Given the description of an element on the screen output the (x, y) to click on. 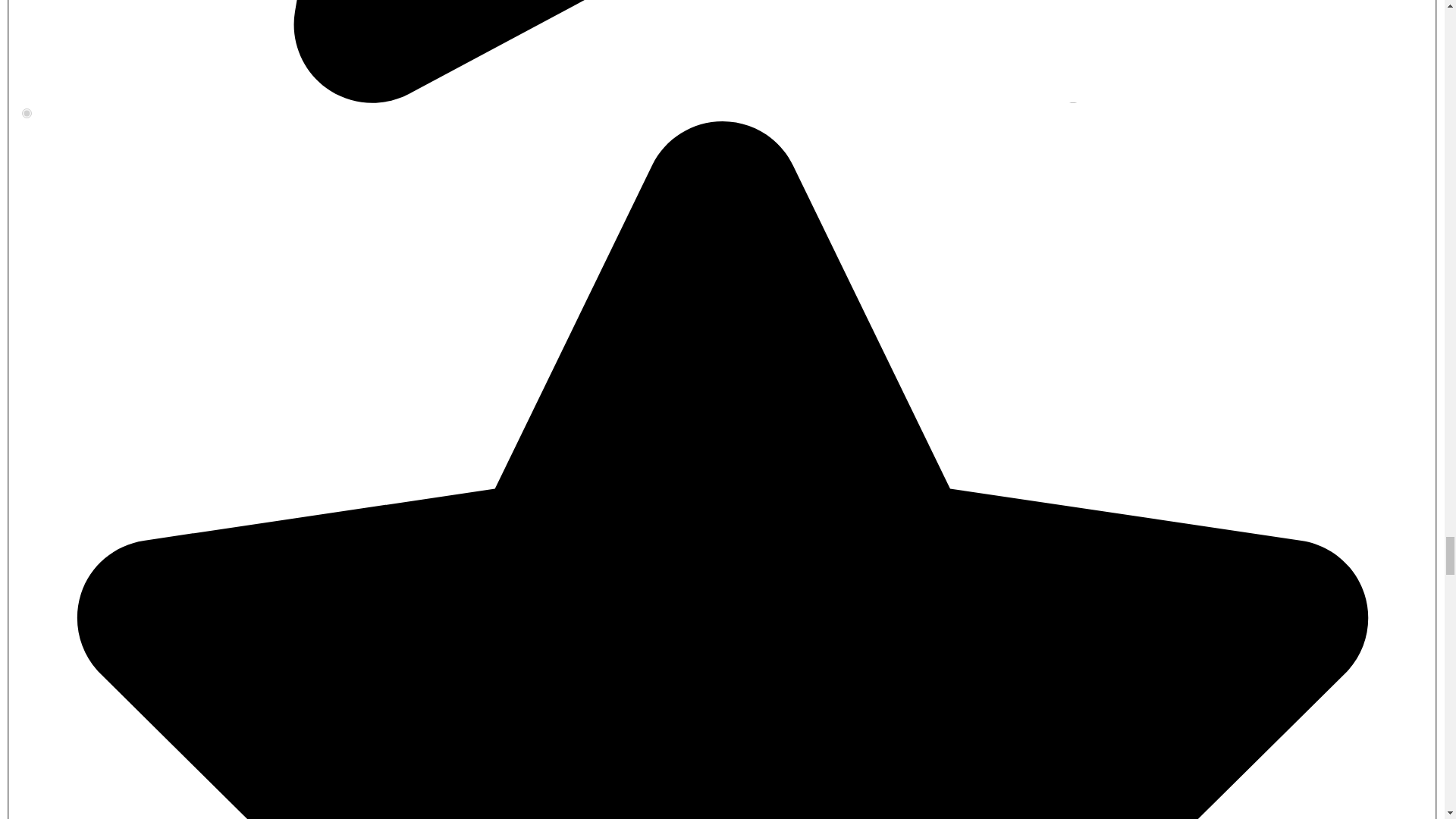
1 (26, 112)
